Given the description of an element on the screen output the (x, y) to click on. 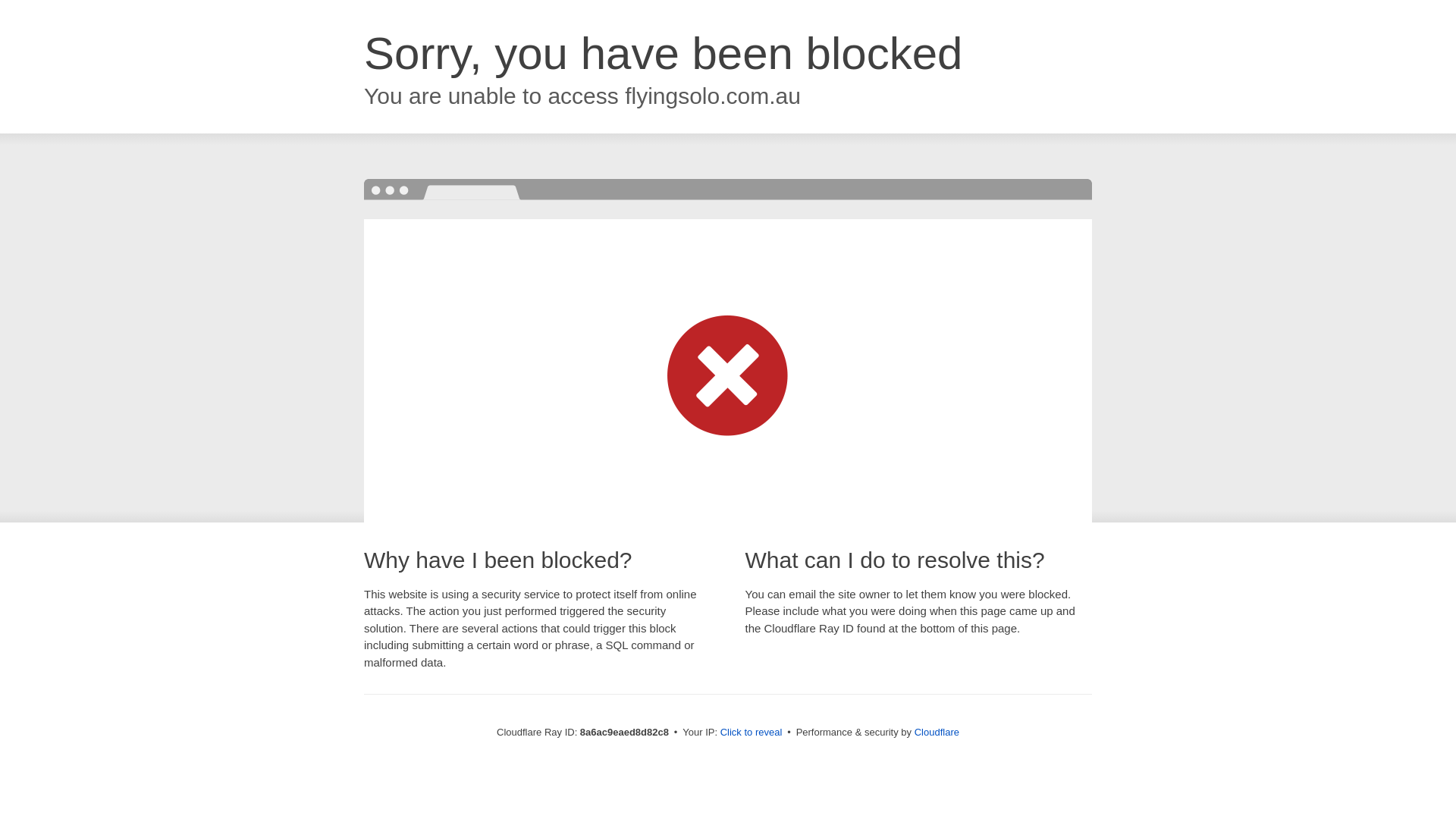
Cloudflare (936, 731)
Click to reveal (751, 732)
